Given the description of an element on the screen output the (x, y) to click on. 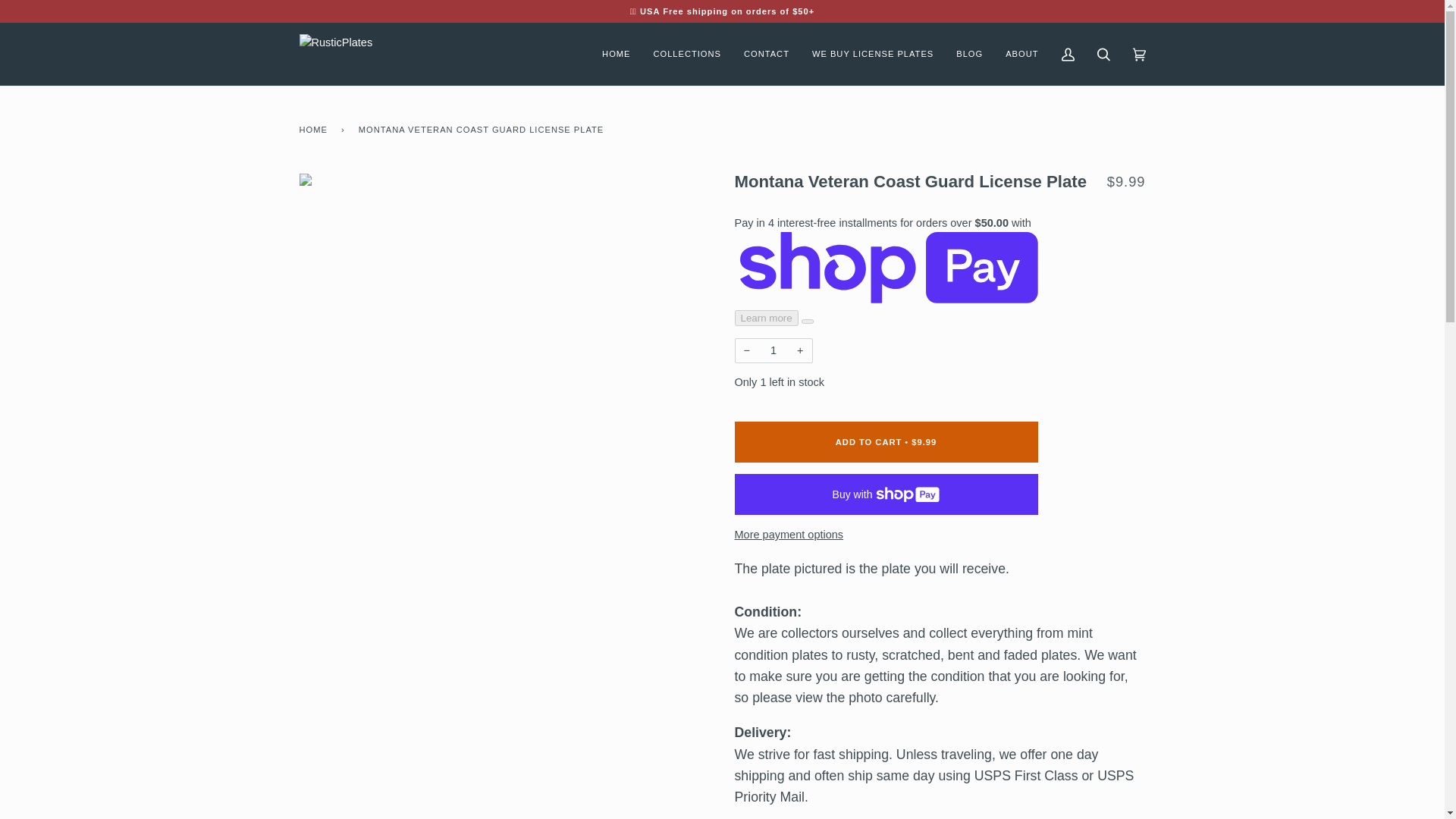
WE BUY LICENSE PLATES (872, 53)
Back to the frontpage (314, 129)
1 (772, 350)
COLLECTIONS (687, 53)
CONTACT (766, 53)
